Given the description of an element on the screen output the (x, y) to click on. 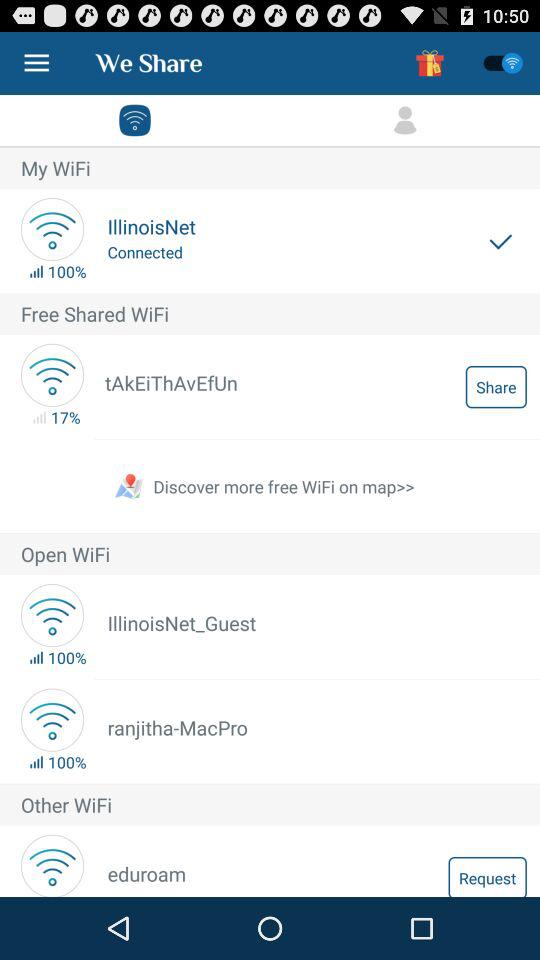
turn off item below free shared wifi (495, 386)
